Given the description of an element on the screen output the (x, y) to click on. 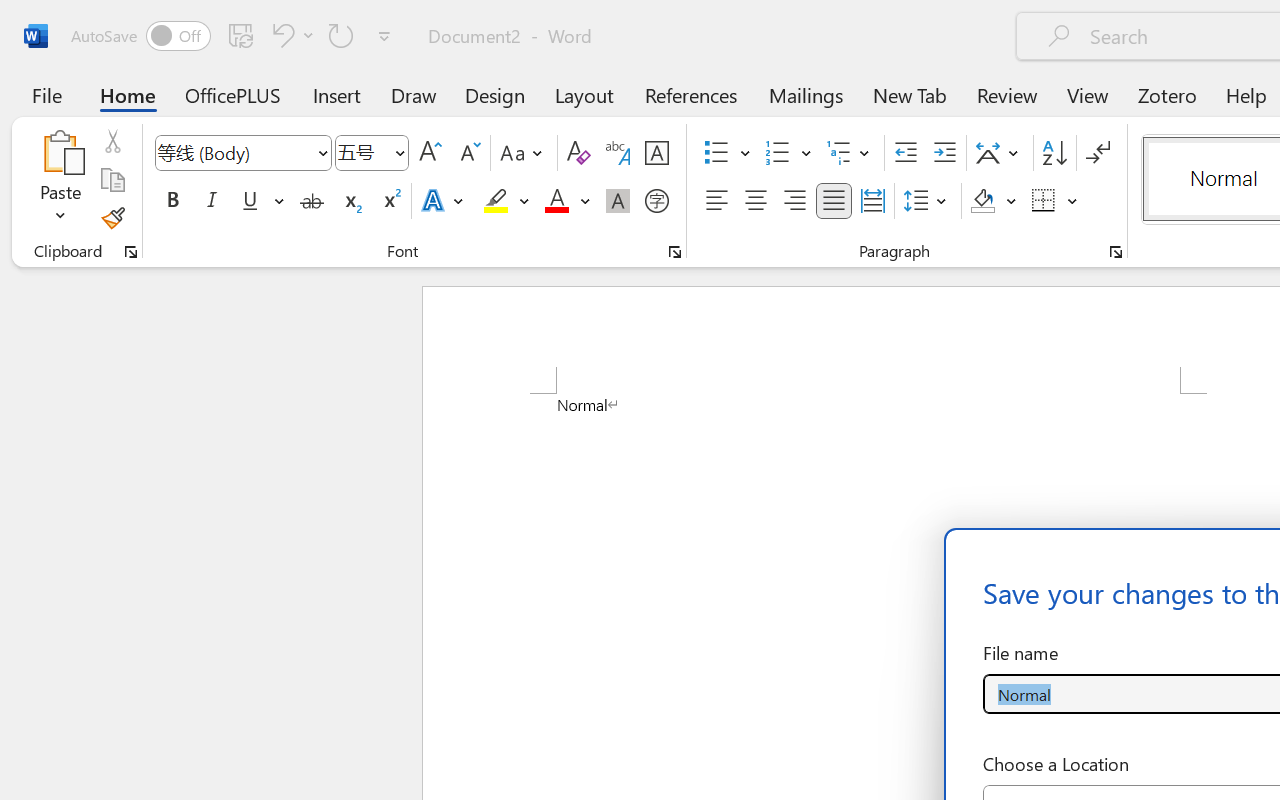
Justify (834, 201)
Bullets (716, 153)
Enclose Characters... (656, 201)
Center (756, 201)
Repeat Style (341, 35)
Numbering (778, 153)
Underline (261, 201)
View (1087, 94)
Character Shading (618, 201)
Align Left (716, 201)
Asian Layout (1000, 153)
Font Color Red (556, 201)
Shading RGB(0, 0, 0) (982, 201)
Strikethrough (312, 201)
